Given the description of an element on the screen output the (x, y) to click on. 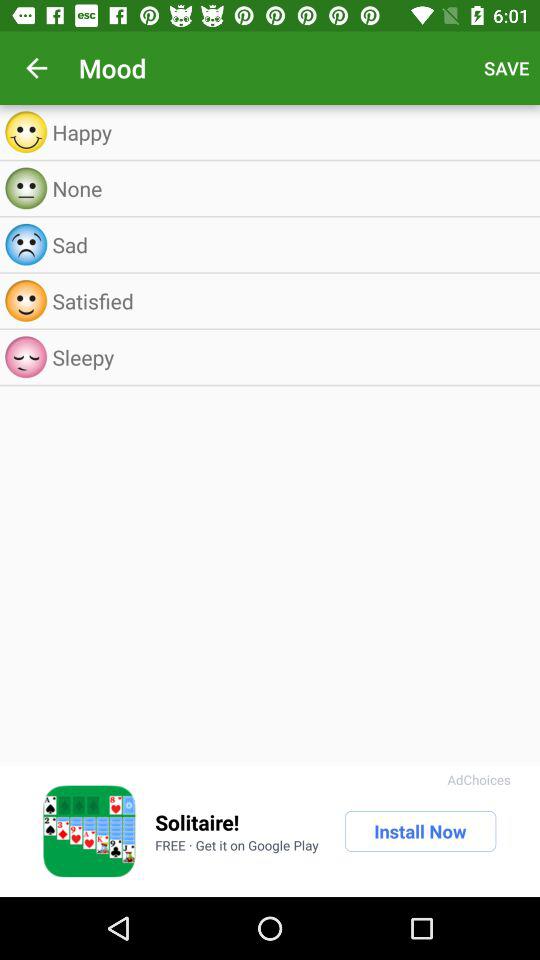
turn on the icon above the  happy item (36, 68)
